Given the description of an element on the screen output the (x, y) to click on. 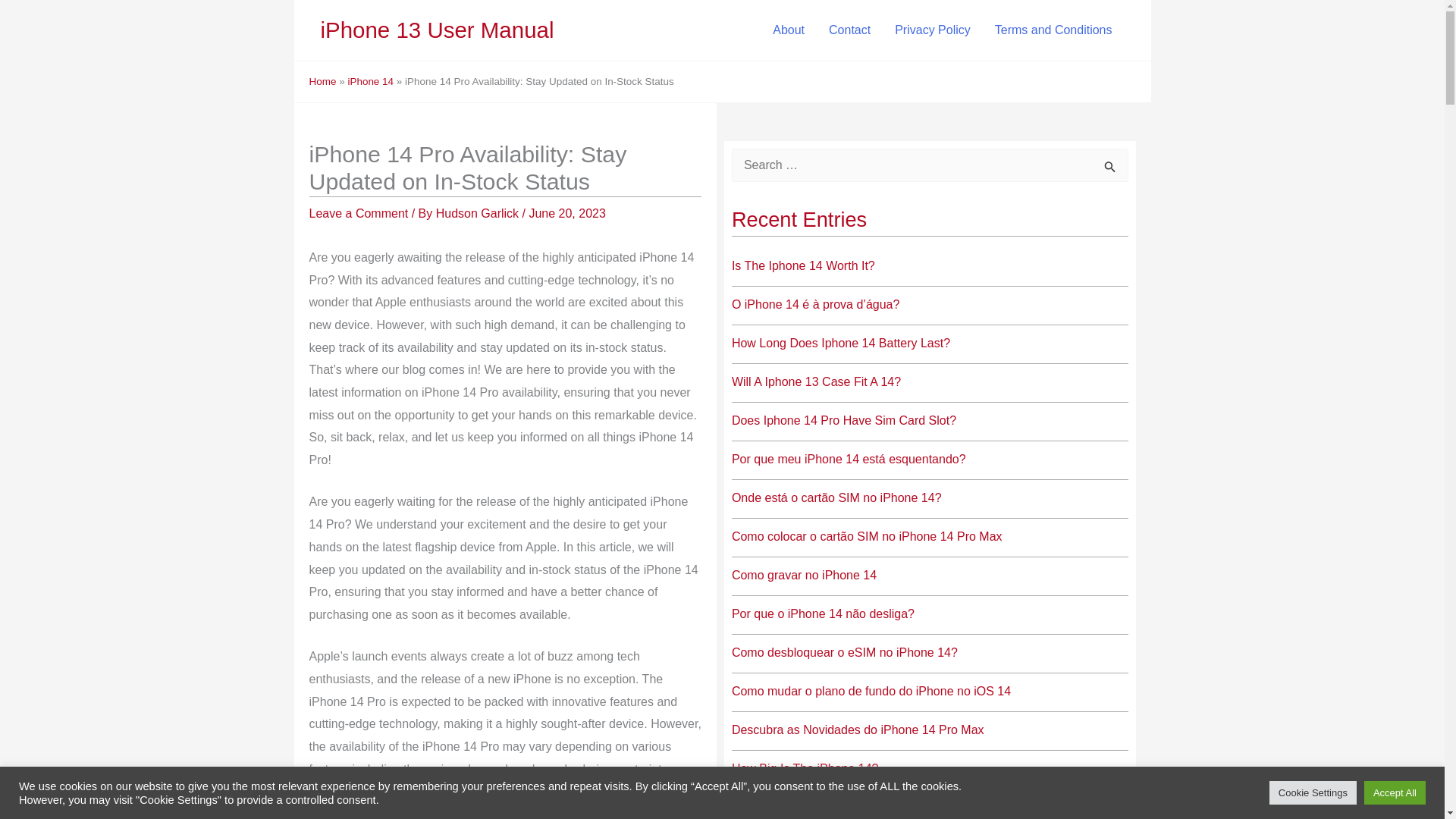
Is The Iphone 14 Worth It? (803, 265)
iPhone 14 (370, 81)
View all posts by Hudson Garlick (478, 213)
Terms and Conditions (1053, 30)
Privacy Policy (932, 30)
How Big Is The iPhone 14? (805, 768)
Como mudar o plano de fundo do iPhone no iOS 14 (871, 690)
Contact (849, 30)
Descubra as Novidades do iPhone 14 Pro Max (858, 729)
Will A Iphone 13 Case Fit A 14? (816, 381)
